Given the description of an element on the screen output the (x, y) to click on. 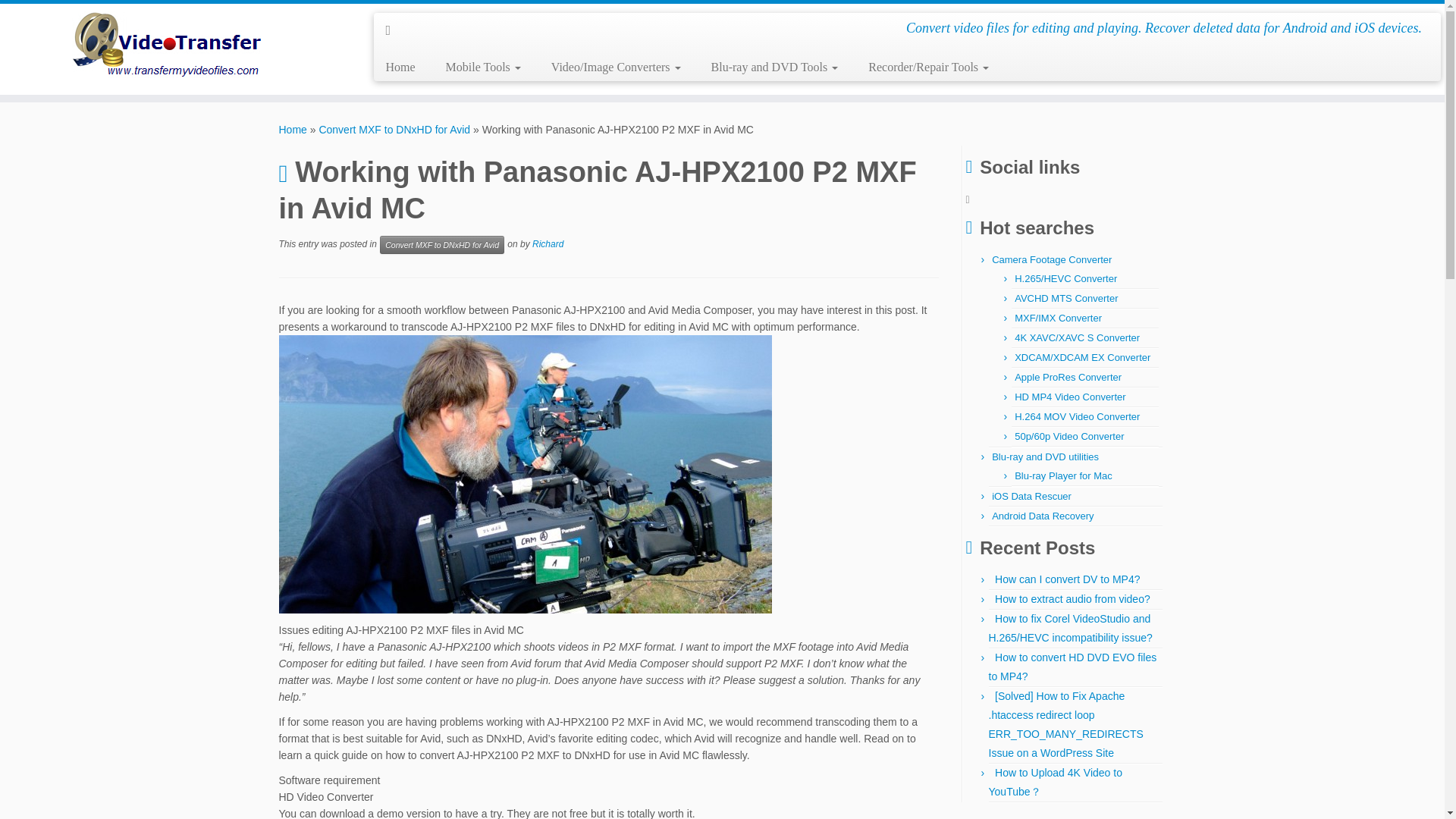
Mobile Tools (482, 67)
Home (405, 67)
Richard (547, 244)
Home (293, 129)
Convert MXF to DNxHD for Avid (394, 129)
Follow us on Rss (392, 29)
View all posts in Convert MXF to DNxHD for Avid (441, 244)
Convert MXF to DNxHD for Avid (441, 244)
Video Transfer (293, 129)
Blu-ray and DVD Tools (774, 67)
